Given the description of an element on the screen output the (x, y) to click on. 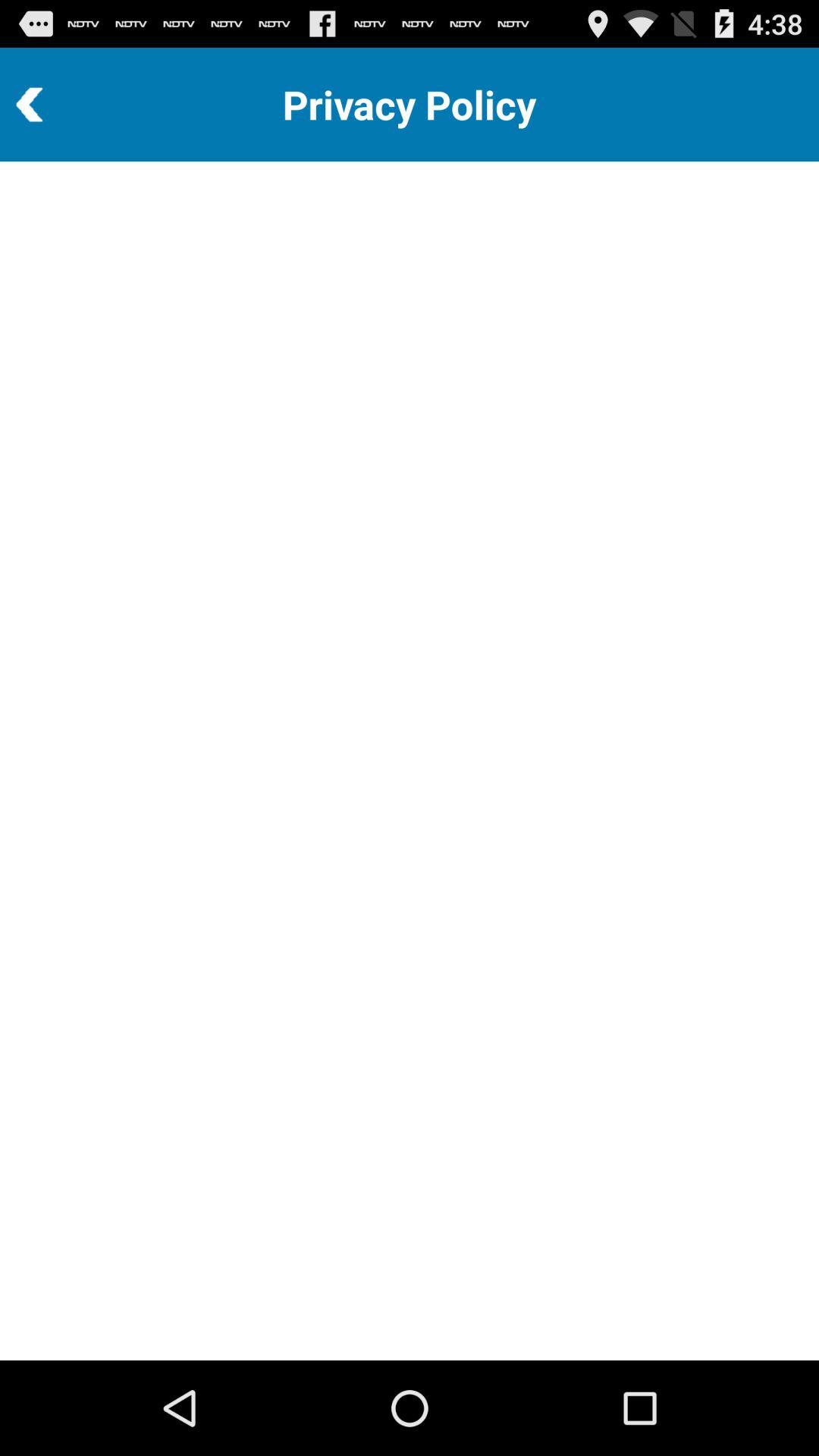
come back (70, 104)
